Given the description of an element on the screen output the (x, y) to click on. 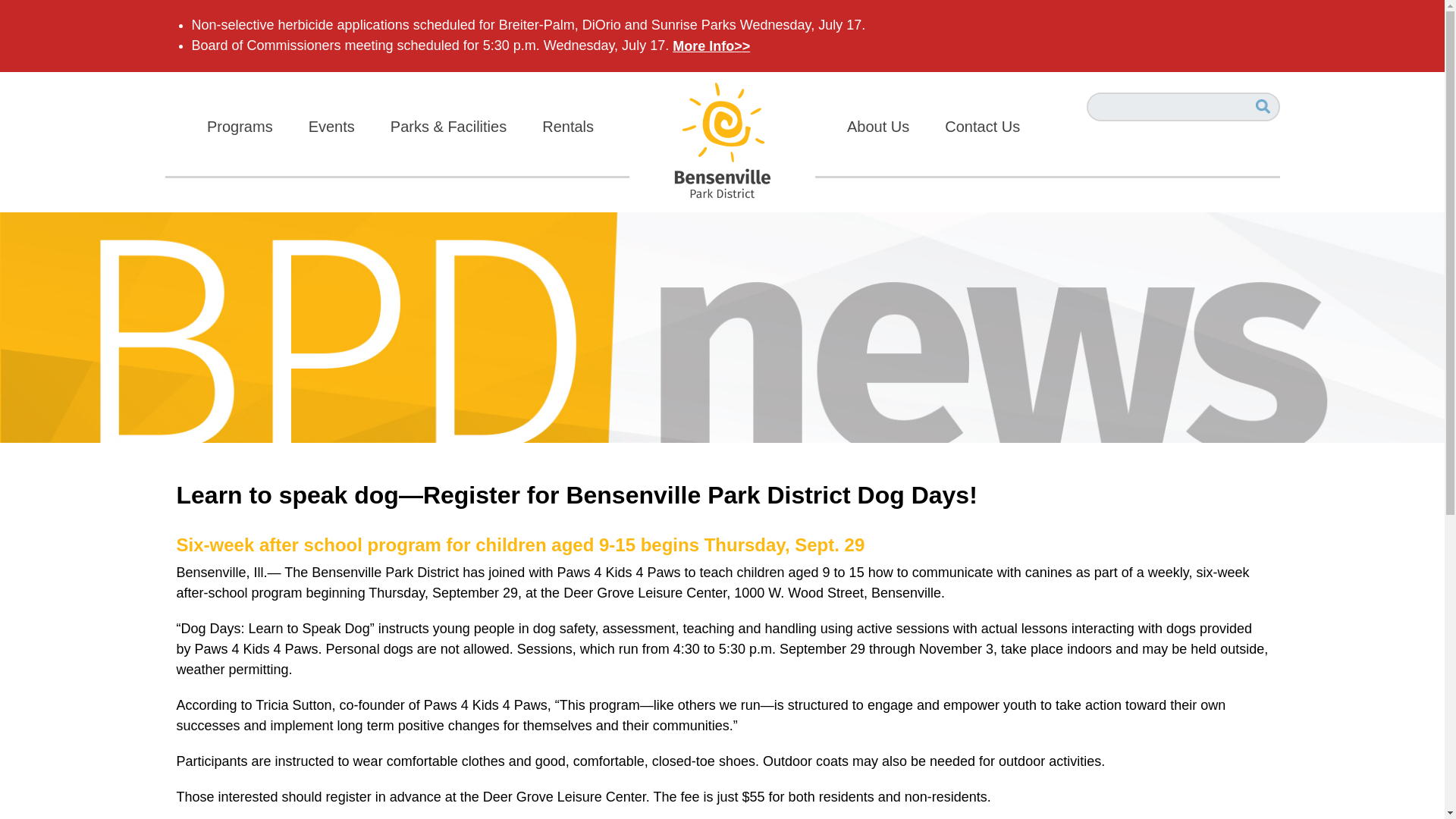
Programs (257, 121)
